Given the description of an element on the screen output the (x, y) to click on. 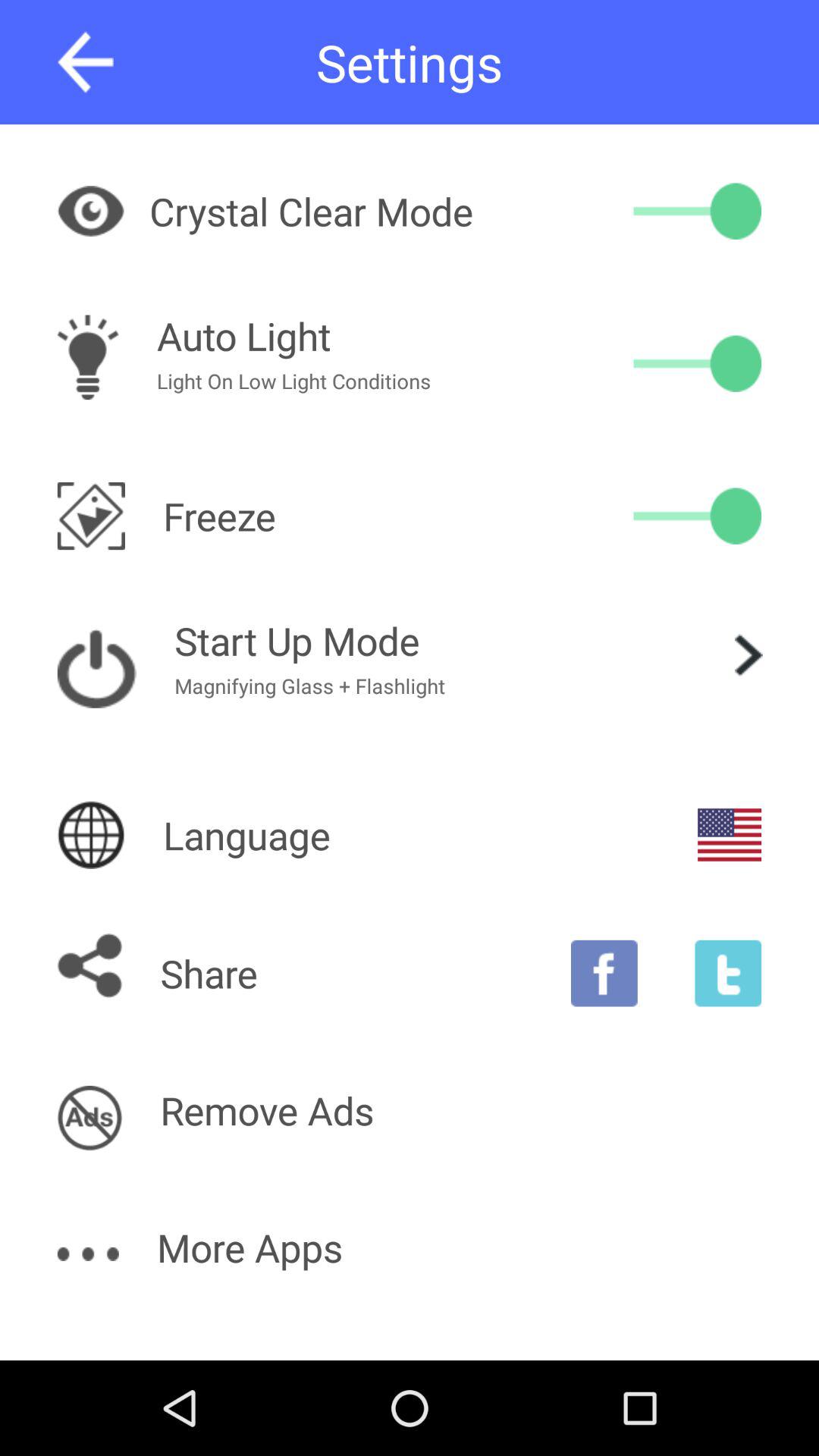
open facebook (604, 973)
